Given the description of an element on the screen output the (x, y) to click on. 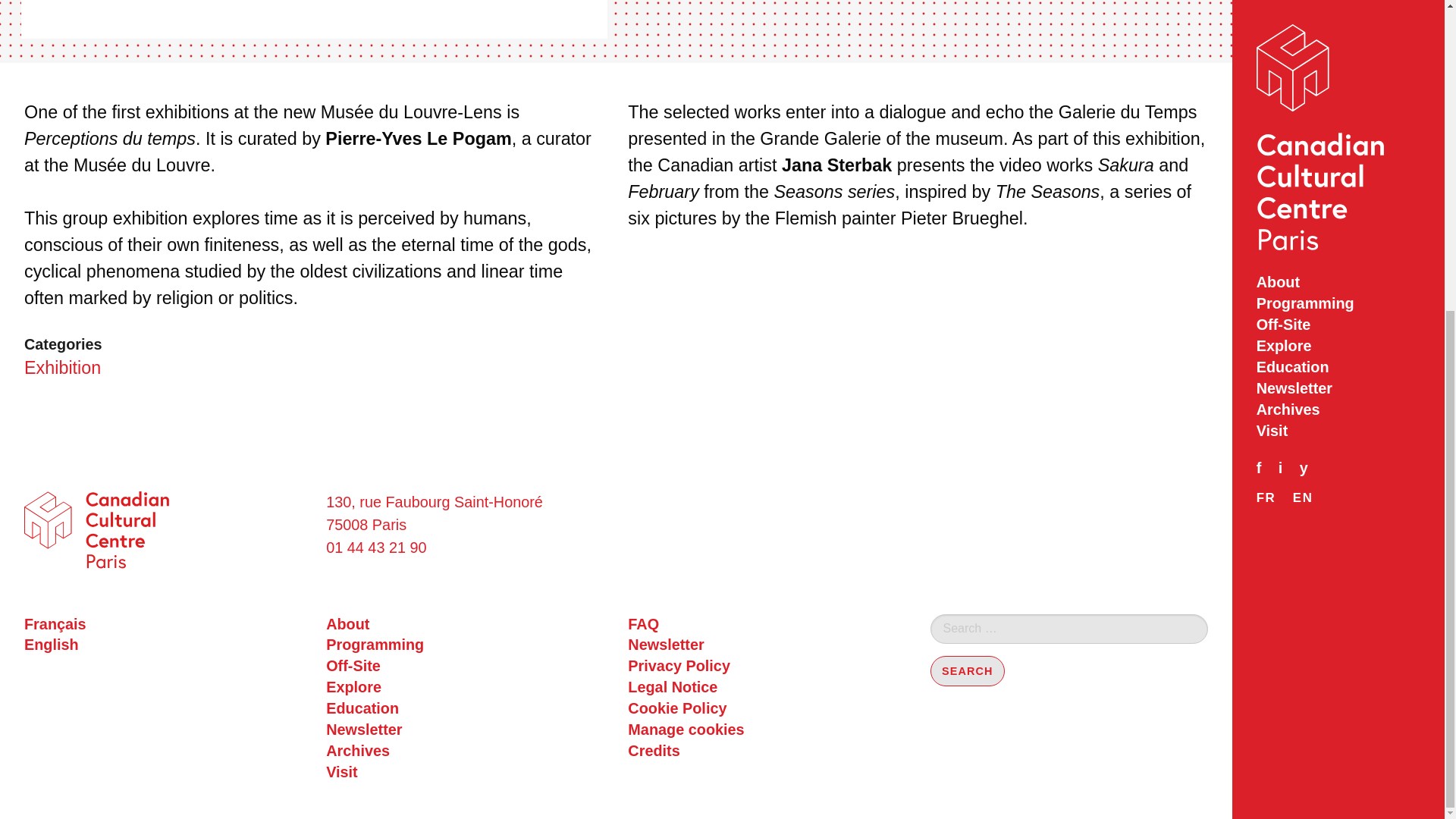
Exhibition (62, 367)
Credits (766, 751)
Legal Notice (766, 687)
FAQ (766, 624)
Explore (465, 687)
FR (1266, 5)
About (465, 624)
EN (1302, 5)
Off-Site (465, 666)
Programming (465, 645)
Education (465, 708)
Cookie Policy (766, 708)
Search (967, 671)
Visit (465, 772)
Search (967, 671)
